Given the description of an element on the screen output the (x, y) to click on. 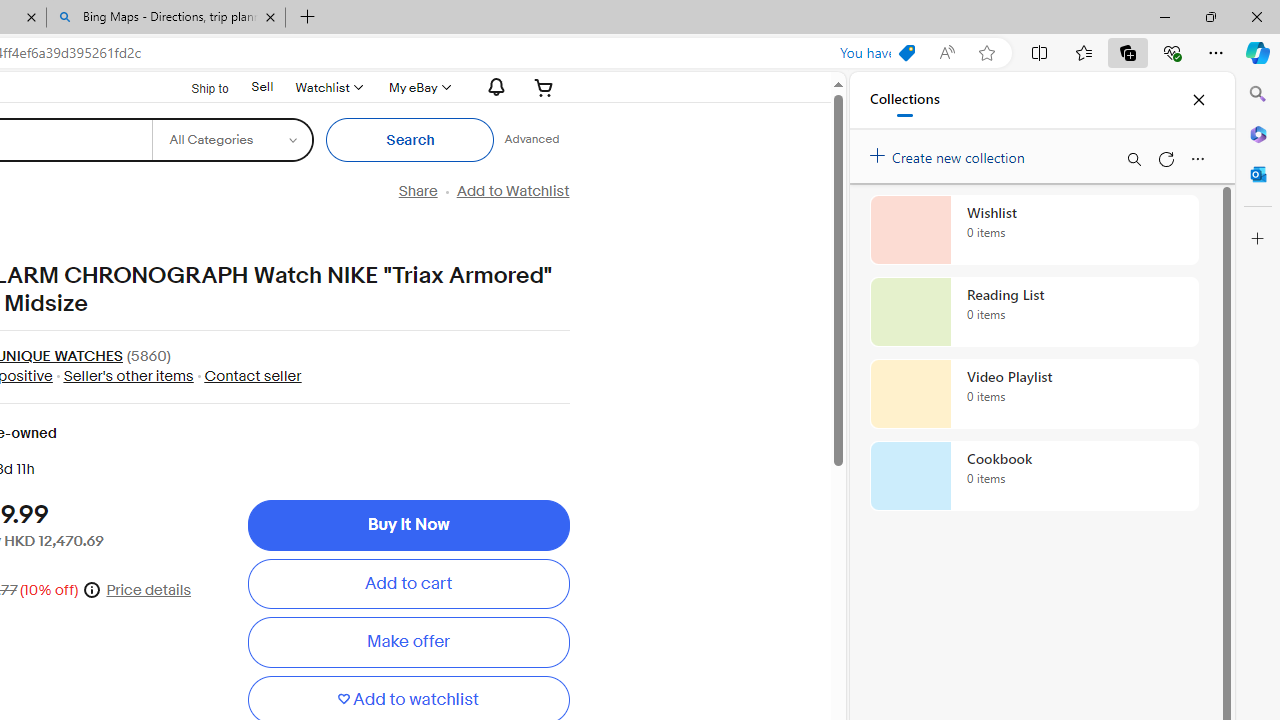
(5860) (148, 356)
Add to cart (408, 583)
  Contact seller (247, 375)
AutomationID: gh-eb-Alerts (493, 87)
Make offer (408, 642)
Create new collection (950, 153)
Watchlist (328, 87)
WatchlistExpand Watch List (328, 87)
